Given the description of an element on the screen output the (x, y) to click on. 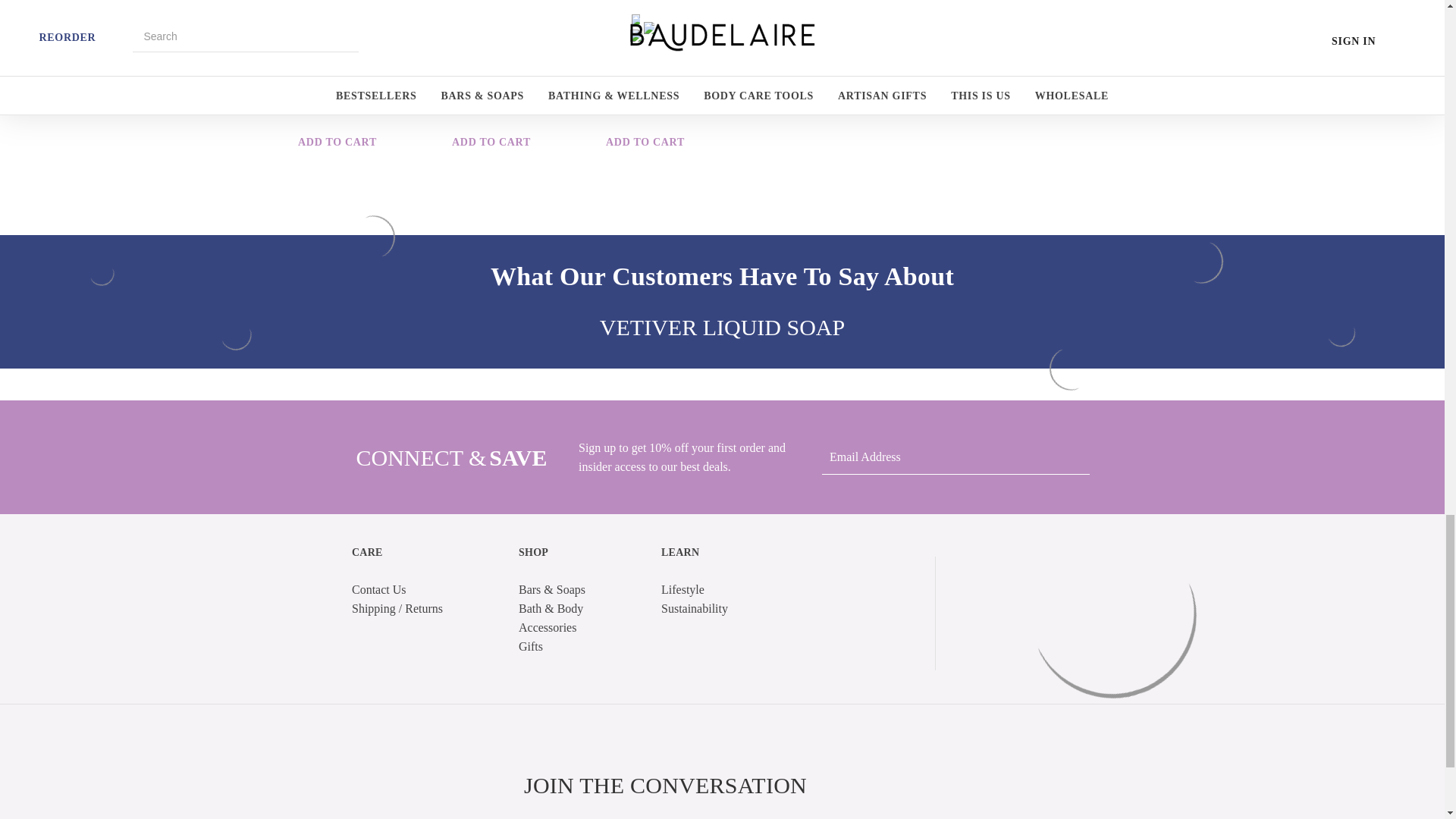
1 (645, 90)
Add to Cart (644, 142)
1 (491, 90)
Add to Cart (491, 142)
Add to Cart (337, 142)
1 (336, 90)
